Given the description of an element on the screen output the (x, y) to click on. 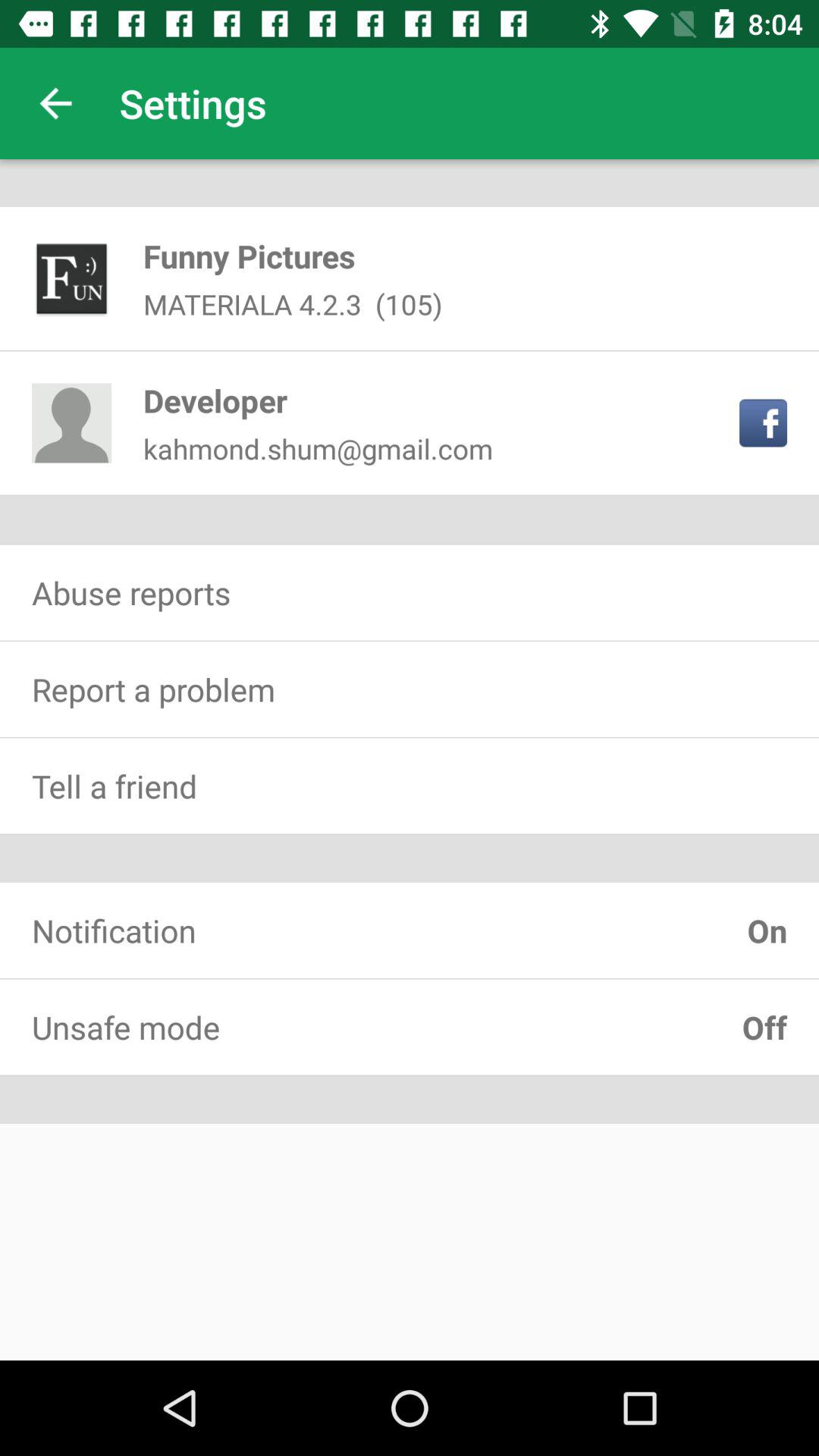
press abuse reports (409, 592)
